Given the description of an element on the screen output the (x, y) to click on. 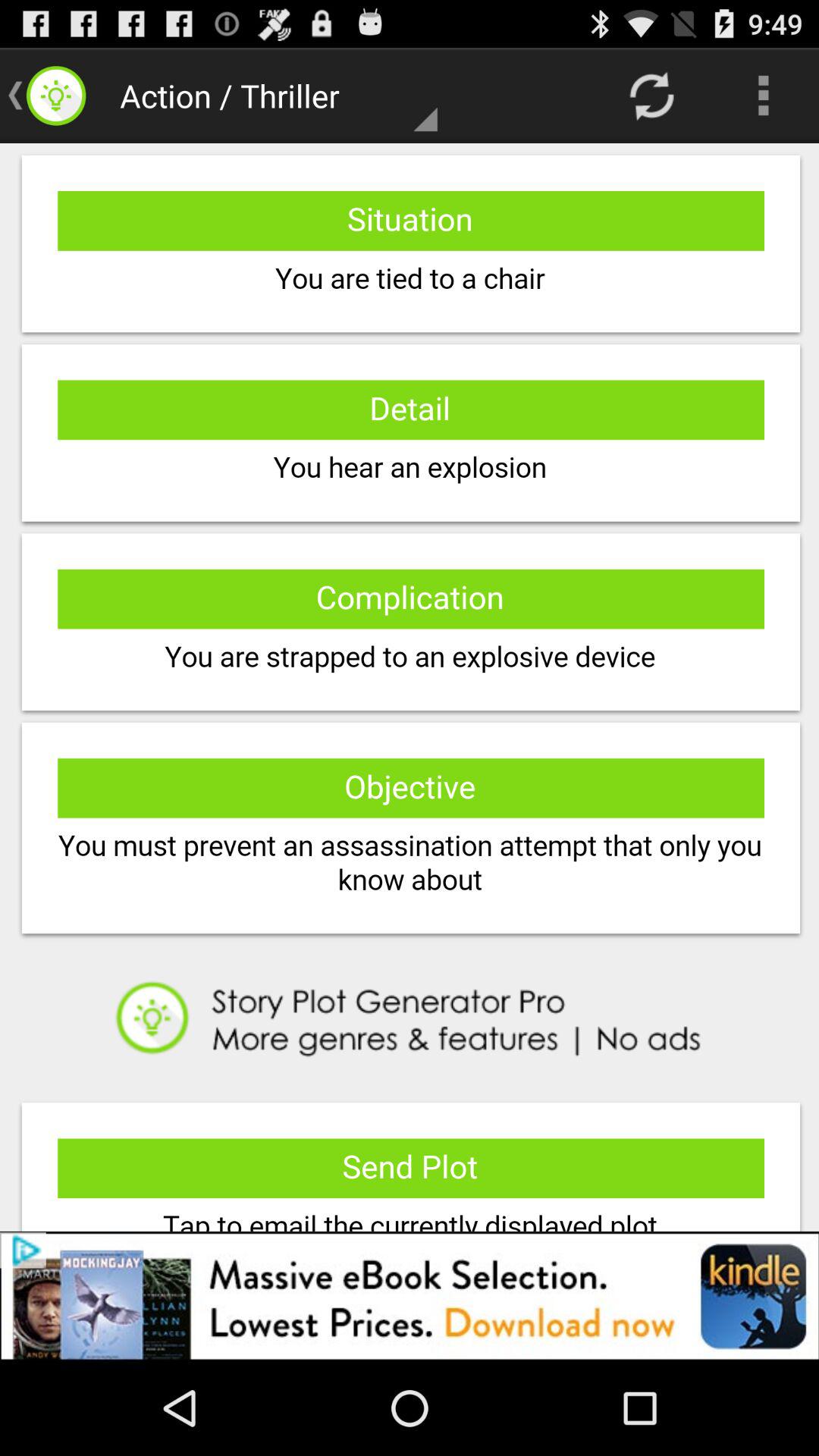
multiple options (409, 687)
